Given the description of an element on the screen output the (x, y) to click on. 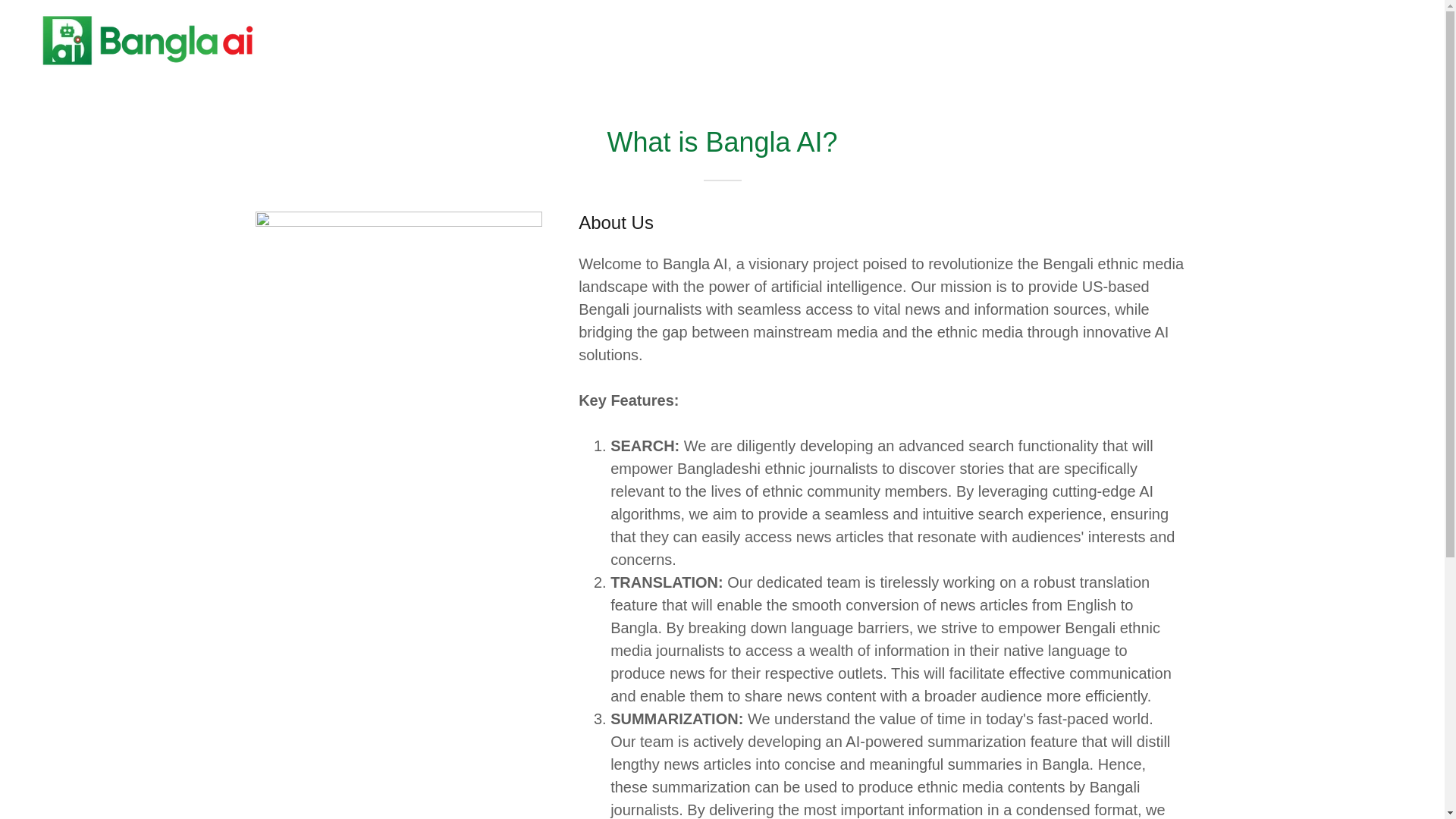
Bangla AI (147, 38)
